Given the description of an element on the screen output the (x, y) to click on. 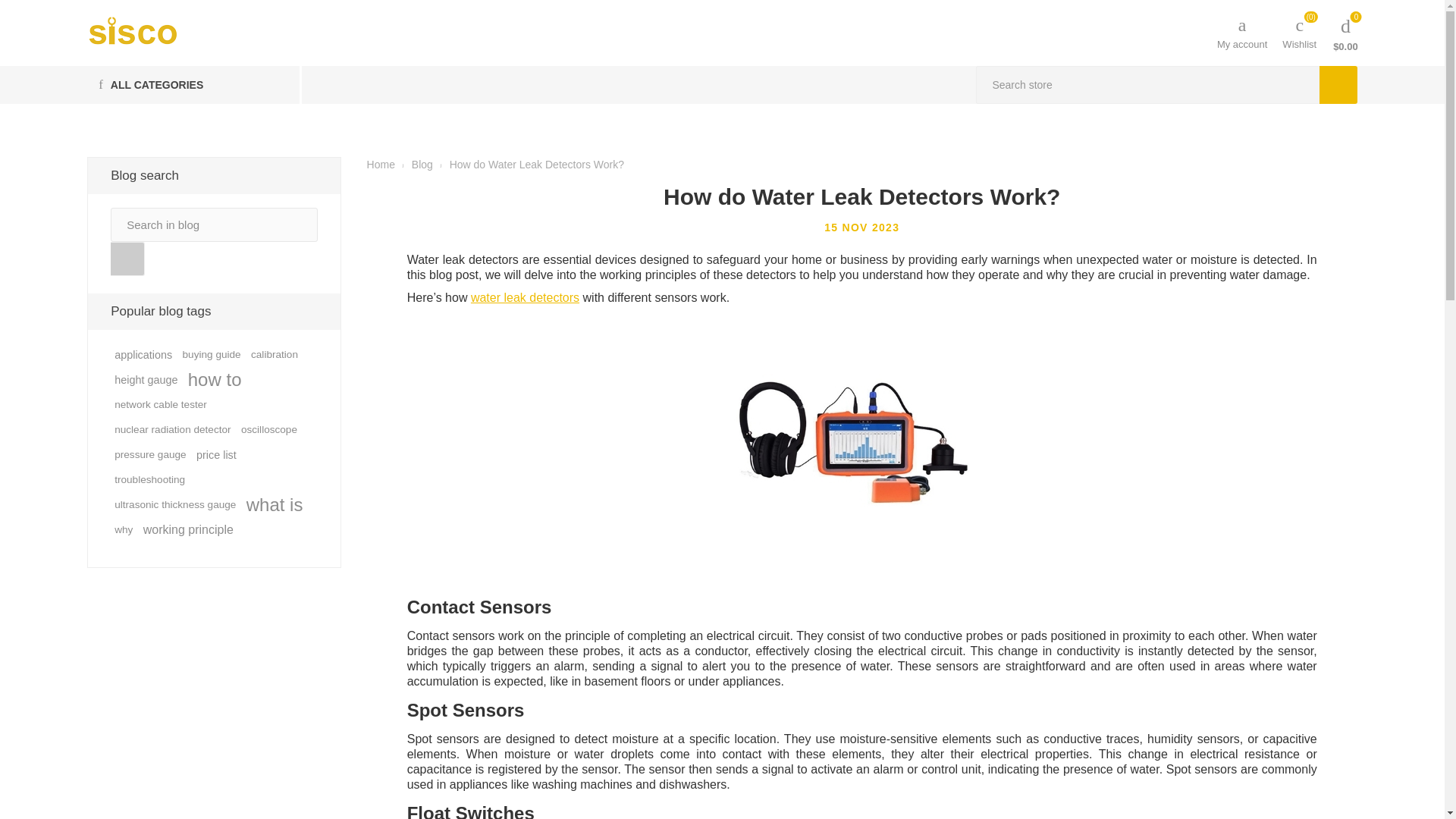
Home (380, 164)
Blog (423, 164)
My account (1241, 32)
sisco.com (132, 31)
